Given the description of an element on the screen output the (x, y) to click on. 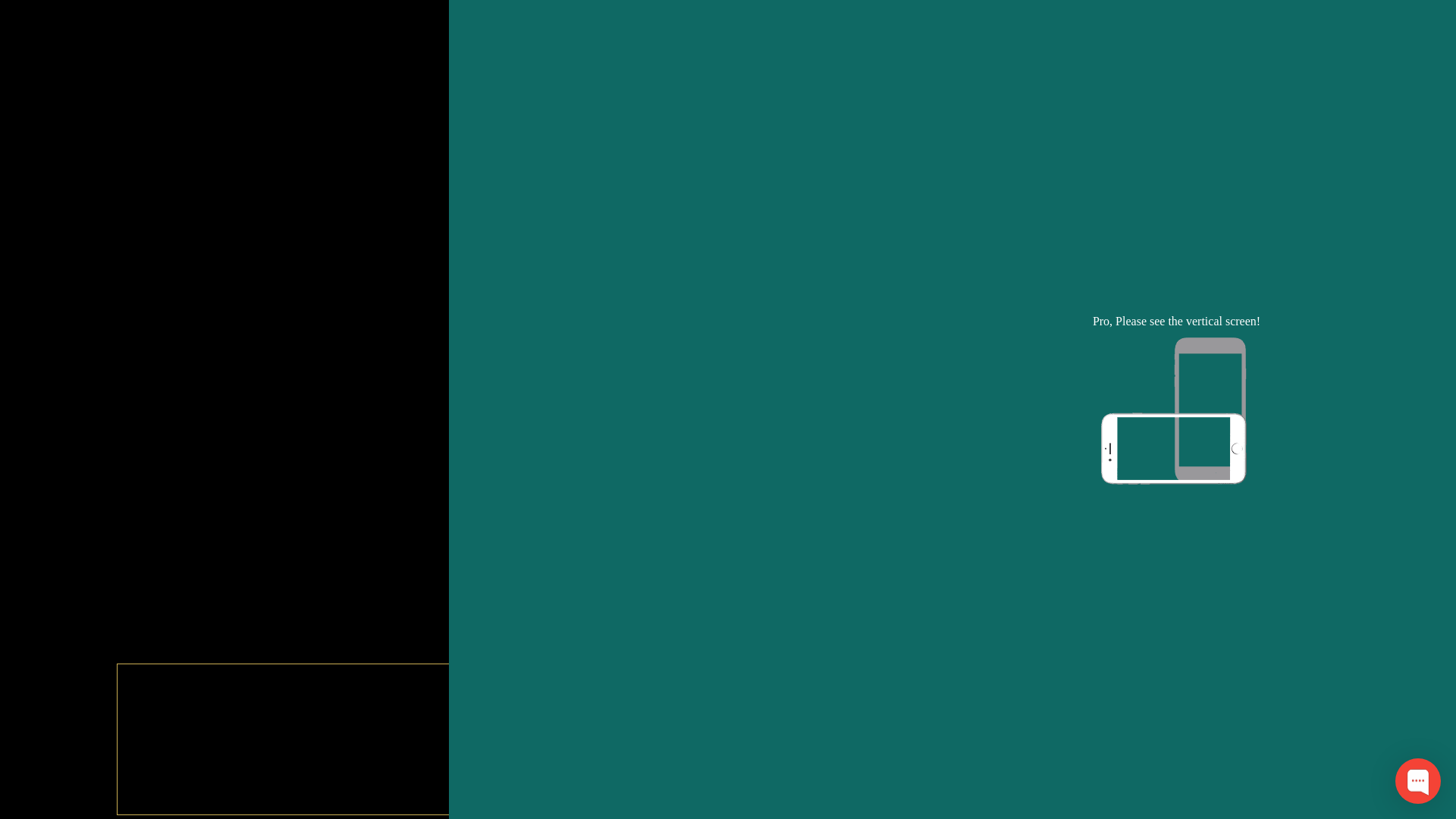
MASUK Element type: text (728, 289)
DAFTAR Element type: text (728, 338)
